Given the description of an element on the screen output the (x, y) to click on. 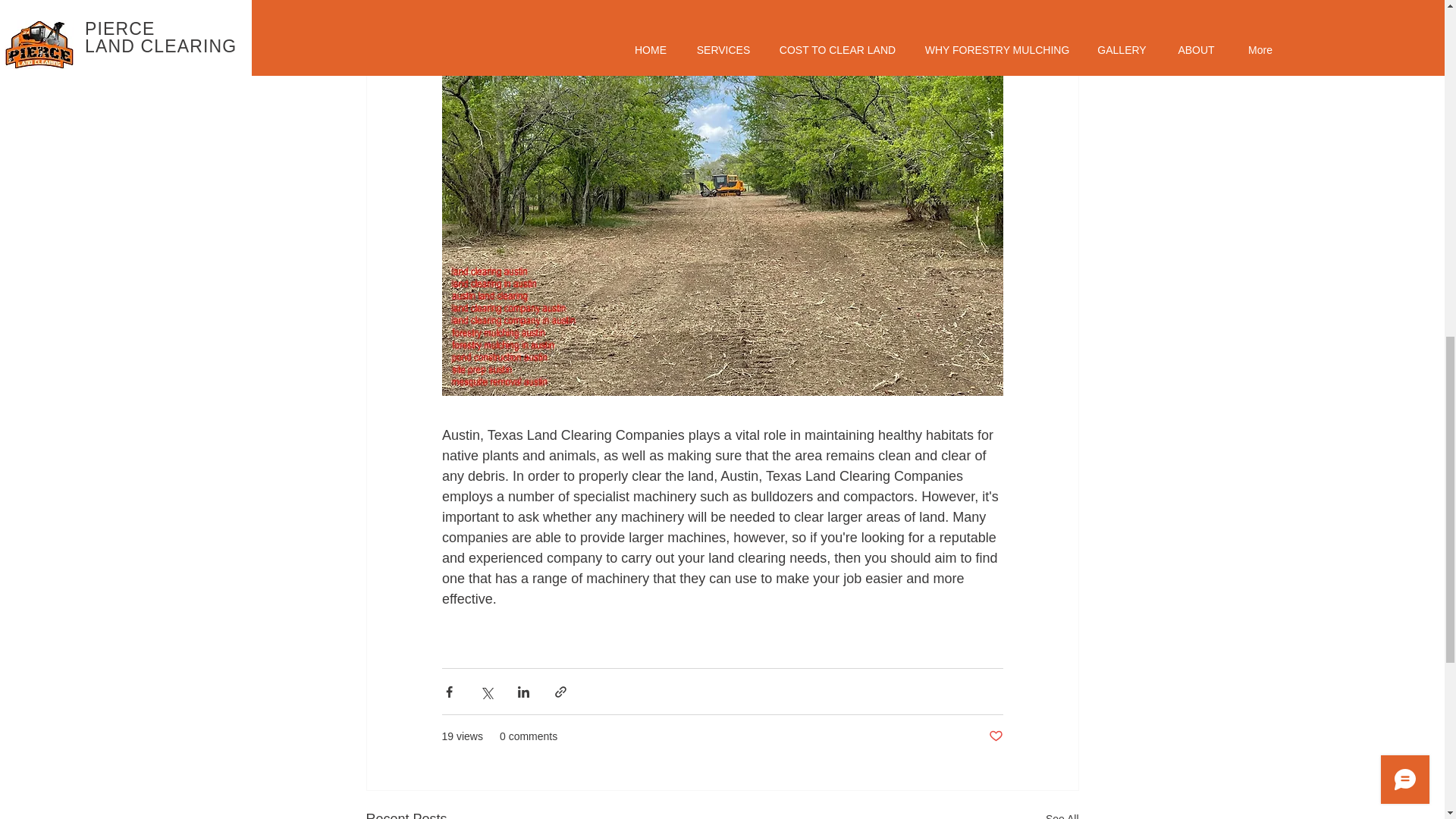
See All (1061, 813)
Post not marked as liked (995, 736)
